Given the description of an element on the screen output the (x, y) to click on. 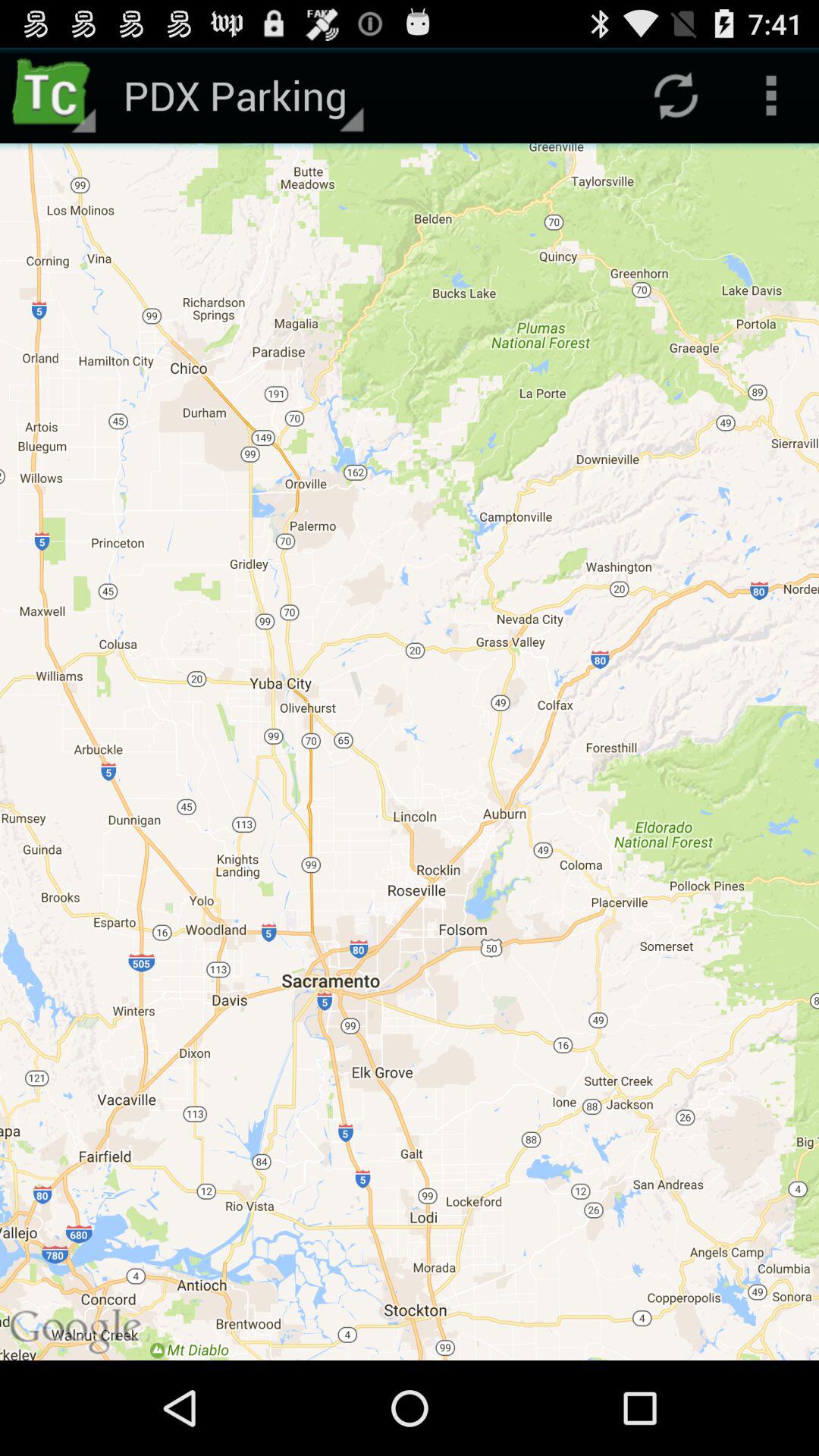
launch the pdx parking app (241, 95)
